Given the description of an element on the screen output the (x, y) to click on. 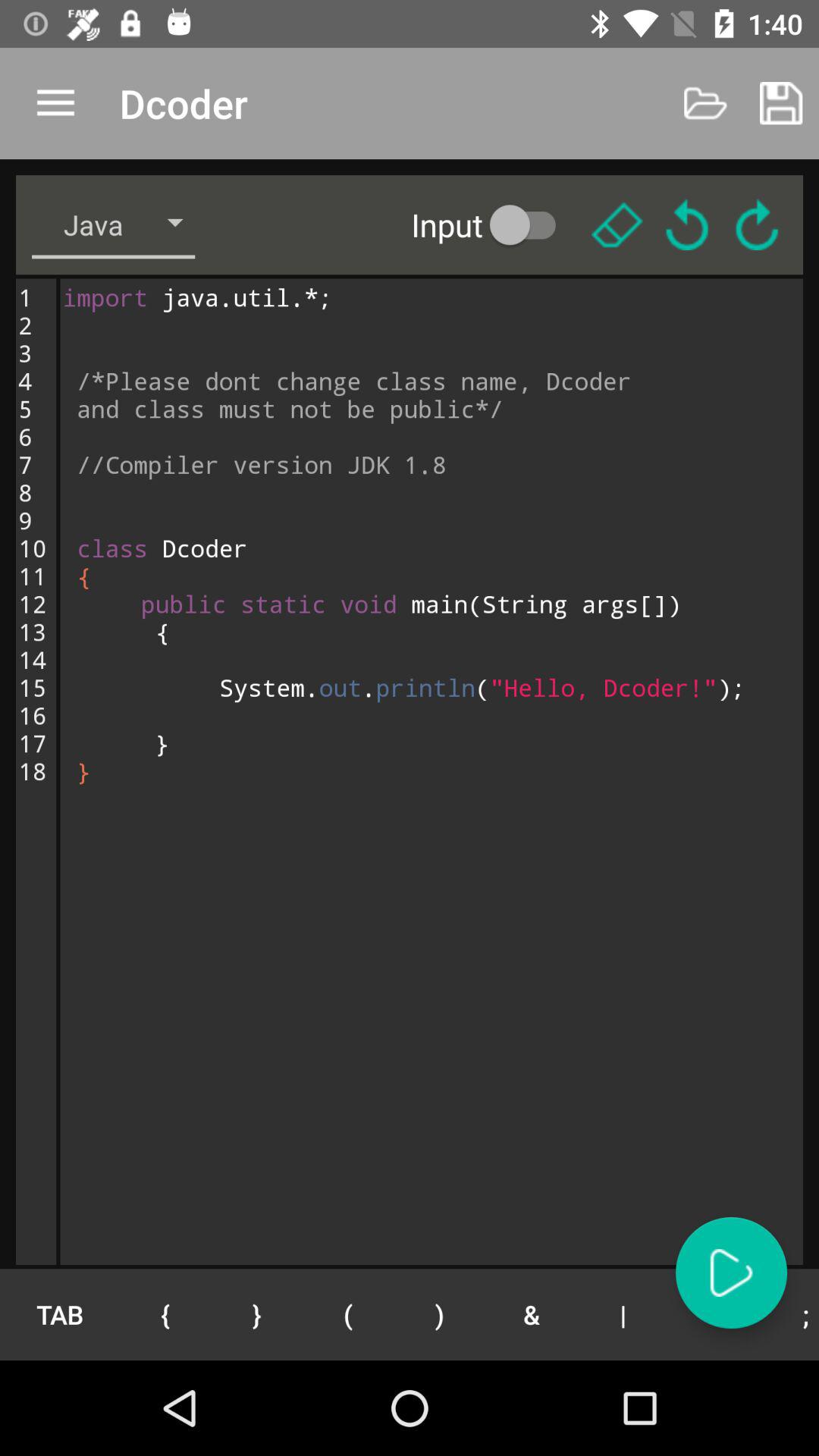
go to previous (686, 224)
